Given the description of an element on the screen output the (x, y) to click on. 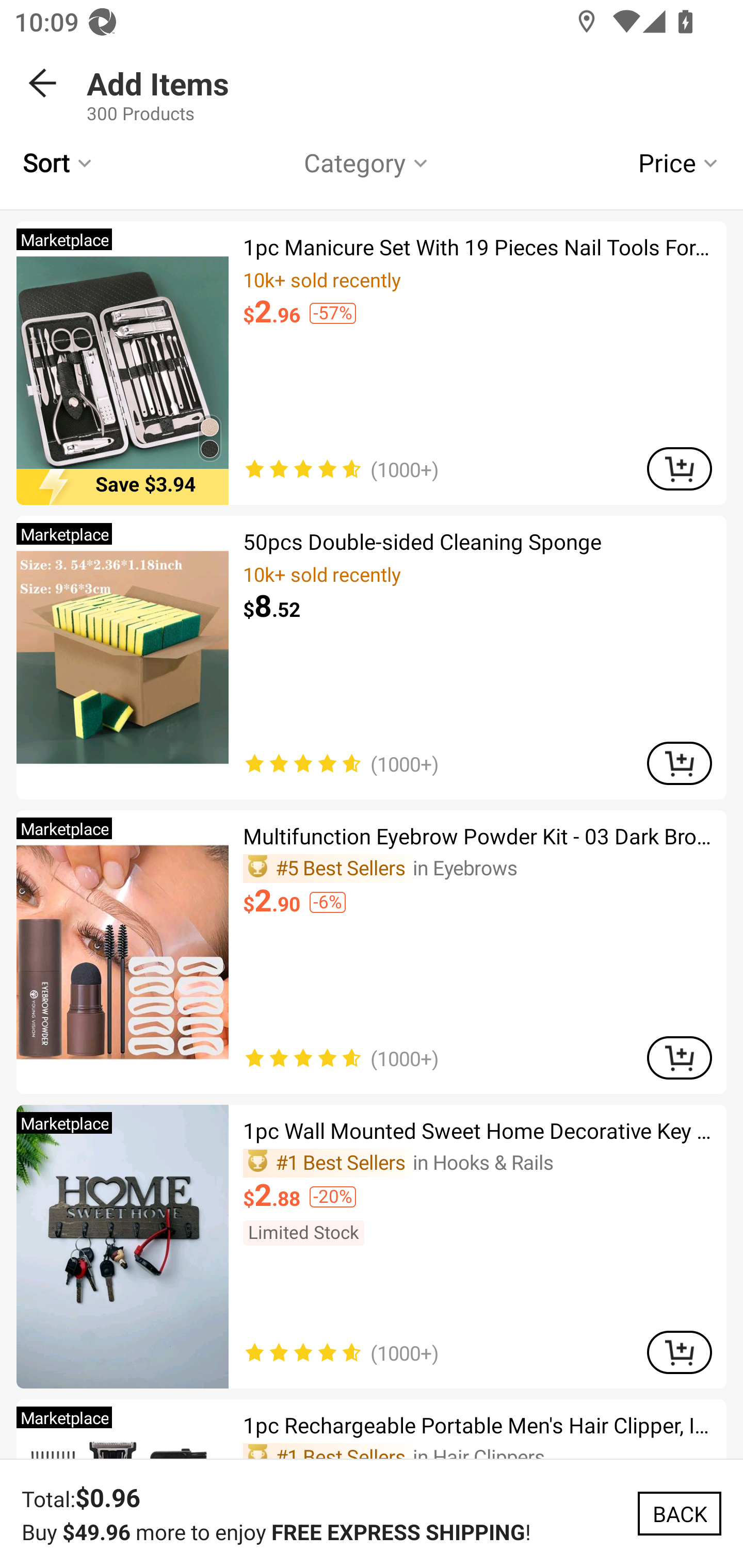
Add Items 300 Products (414, 82)
BACK (43, 83)
Sort (58, 162)
Category (367, 162)
Price (690, 162)
ADD TO CART (679, 468)
ADD TO CART (679, 763)
ADD TO CART (679, 1057)
ADD TO CART (679, 1352)
BACK (679, 1513)
